Given the description of an element on the screen output the (x, y) to click on. 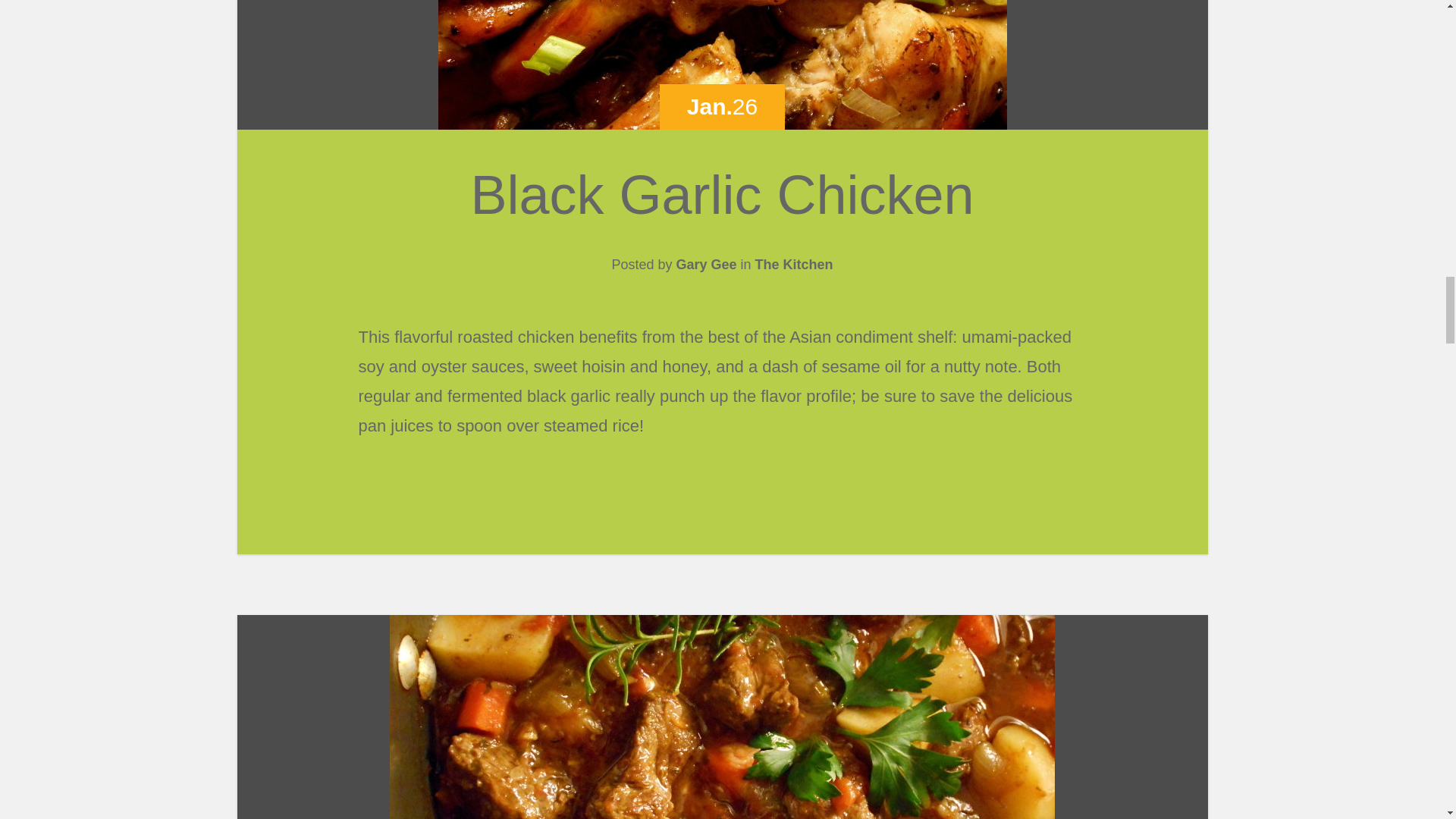
Black Garlic Chicken (722, 194)
Posts by Gary Gee (705, 264)
The Kitchen (793, 264)
Gary Gee (705, 264)
